Given the description of an element on the screen output the (x, y) to click on. 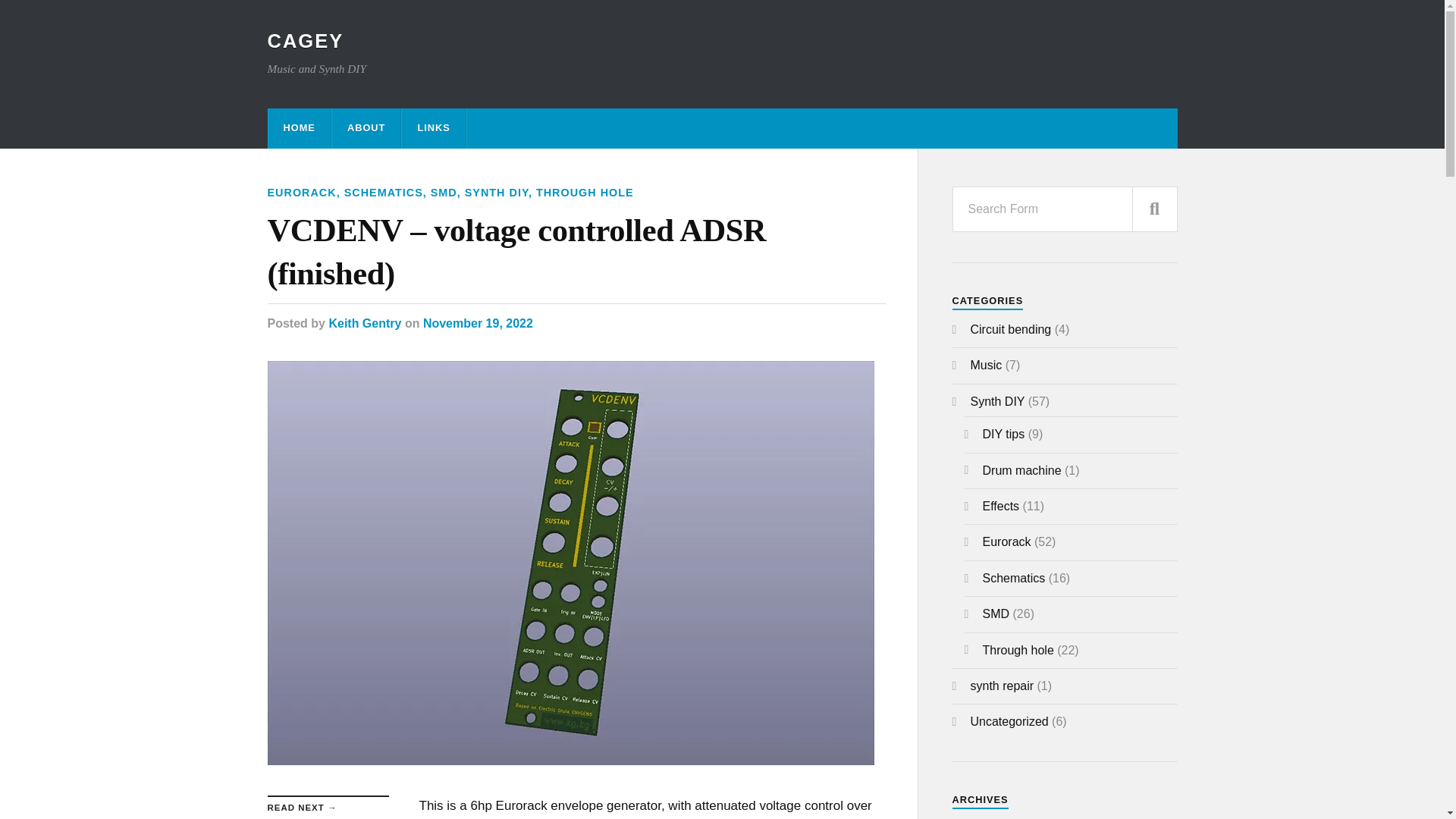
CAGEY (304, 40)
Effects (1001, 505)
DIY tips (1003, 433)
HOME (298, 128)
November 19, 2022 (477, 323)
Music (987, 364)
Keith Gentry (365, 323)
SCHEMATICS (383, 192)
LINKS (432, 128)
THROUGH HOLE (584, 192)
